Given the description of an element on the screen output the (x, y) to click on. 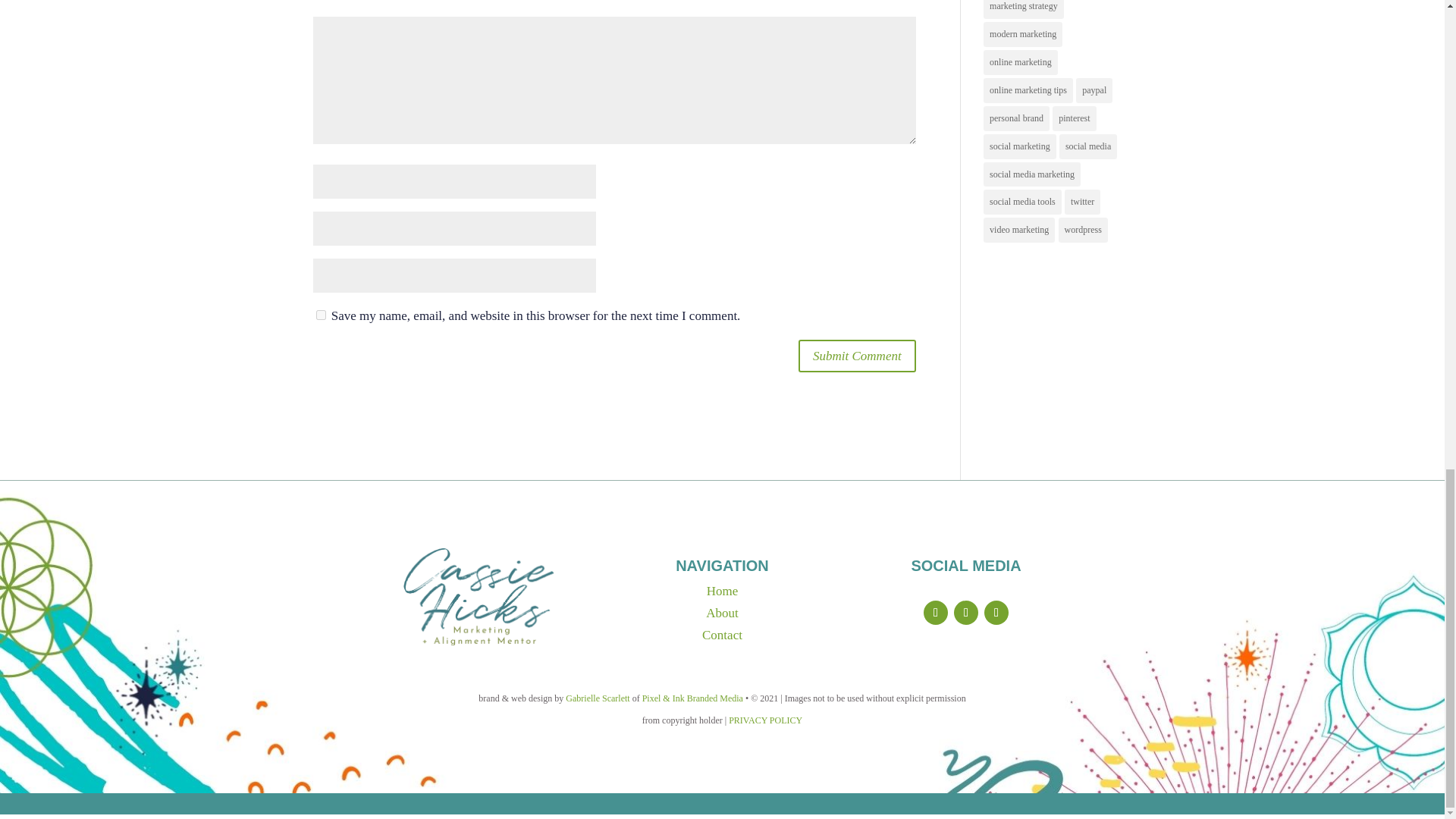
yes (319, 315)
Follow on LinkedIn (996, 612)
Follow on Facebook (935, 612)
Follow on Instagram (965, 612)
Submit Comment (856, 355)
